Given the description of an element on the screen output the (x, y) to click on. 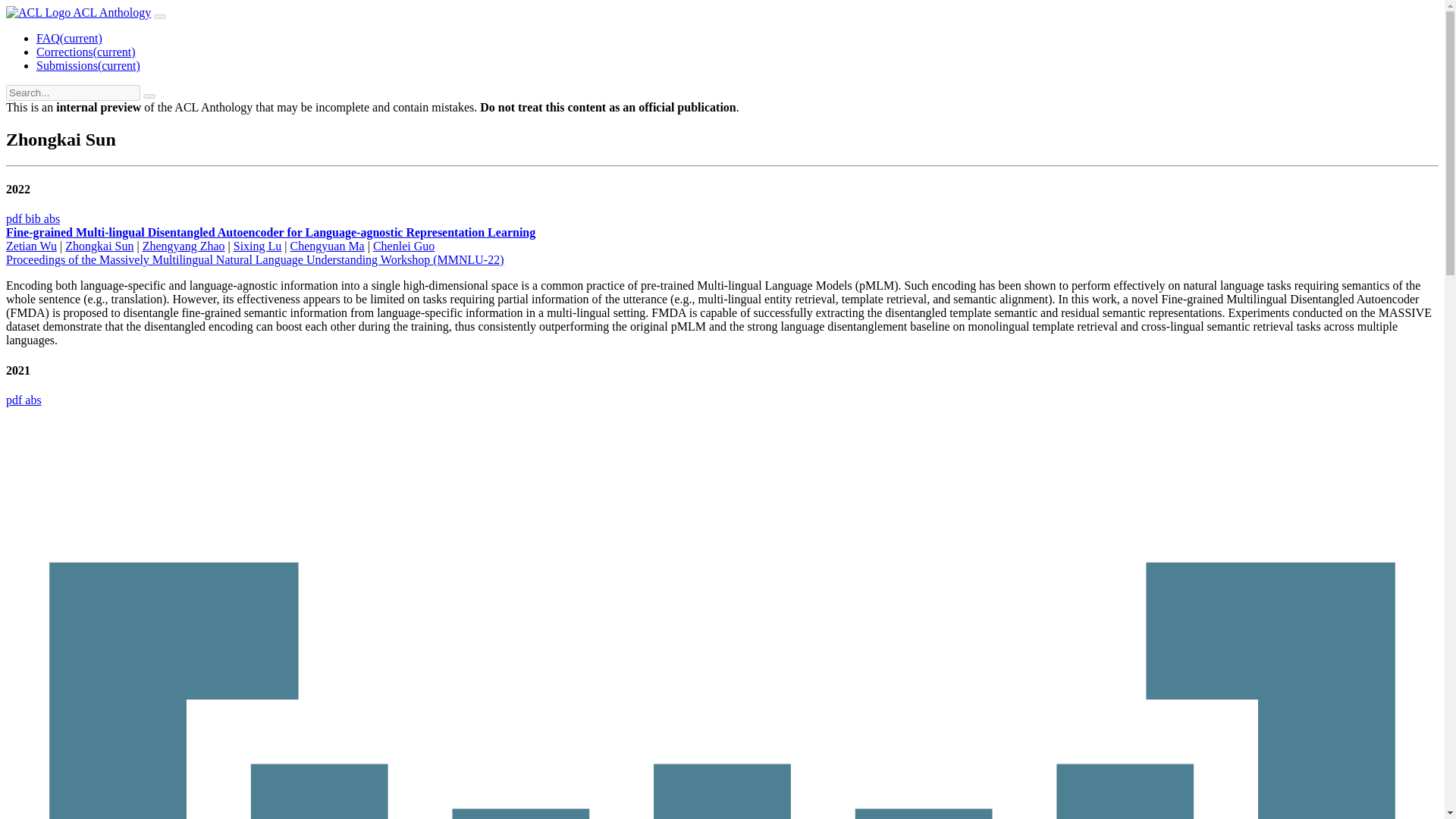
pdf (14, 399)
Export to BibTeX (33, 218)
pdf (14, 218)
Zetian Wu (30, 245)
Sixing Lu (257, 245)
Chengyuan Ma (326, 245)
Open PDF (14, 218)
ACL Anthology (78, 11)
Show Abstract (51, 218)
bib (33, 218)
Open PDF (14, 399)
Chenlei Guo (402, 245)
Zhengyang Zhao (183, 245)
Zhongkai Sun (99, 245)
